Given the description of an element on the screen output the (x, y) to click on. 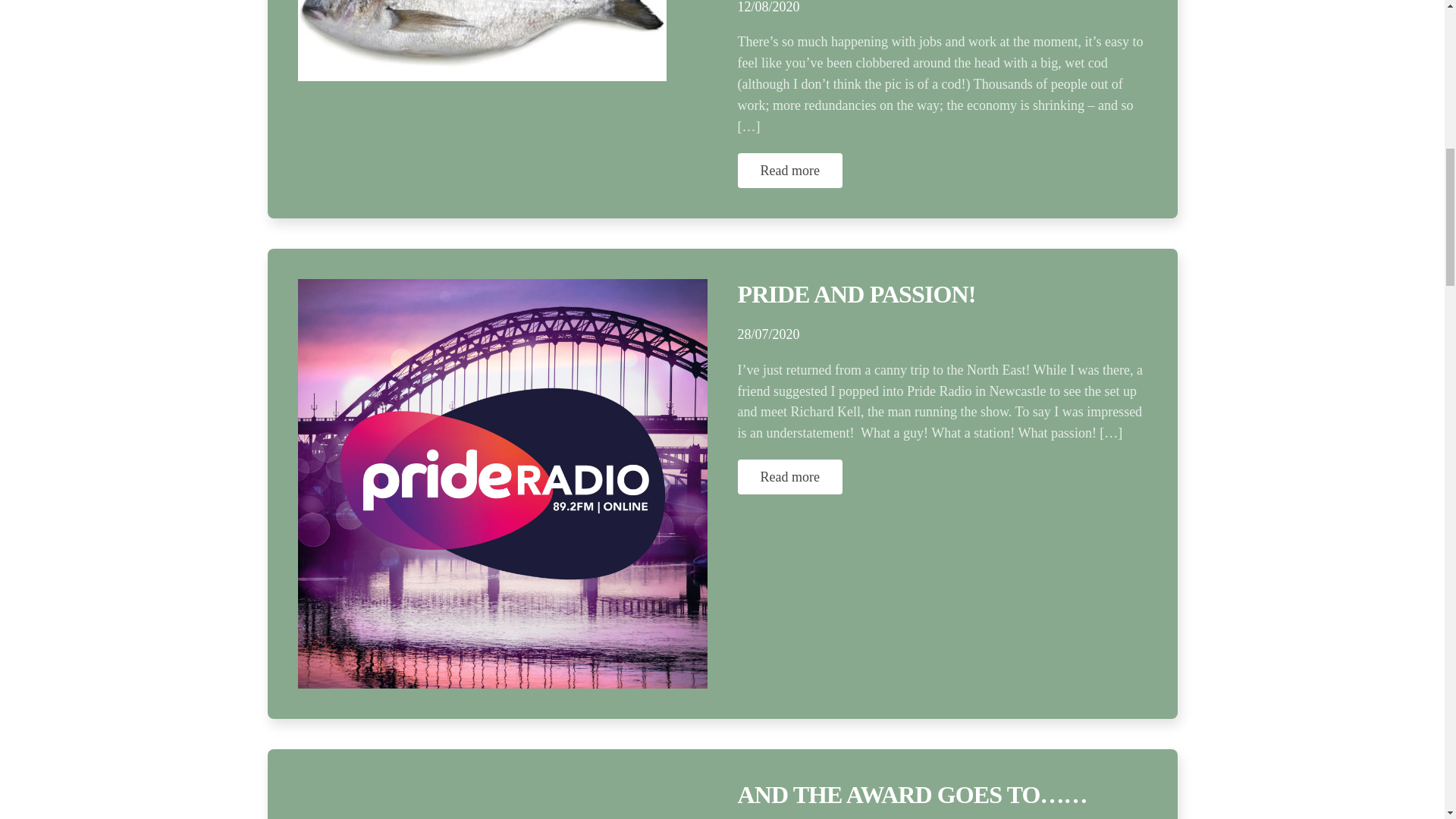
Read more (788, 476)
Read more (788, 170)
